Given the description of an element on the screen output the (x, y) to click on. 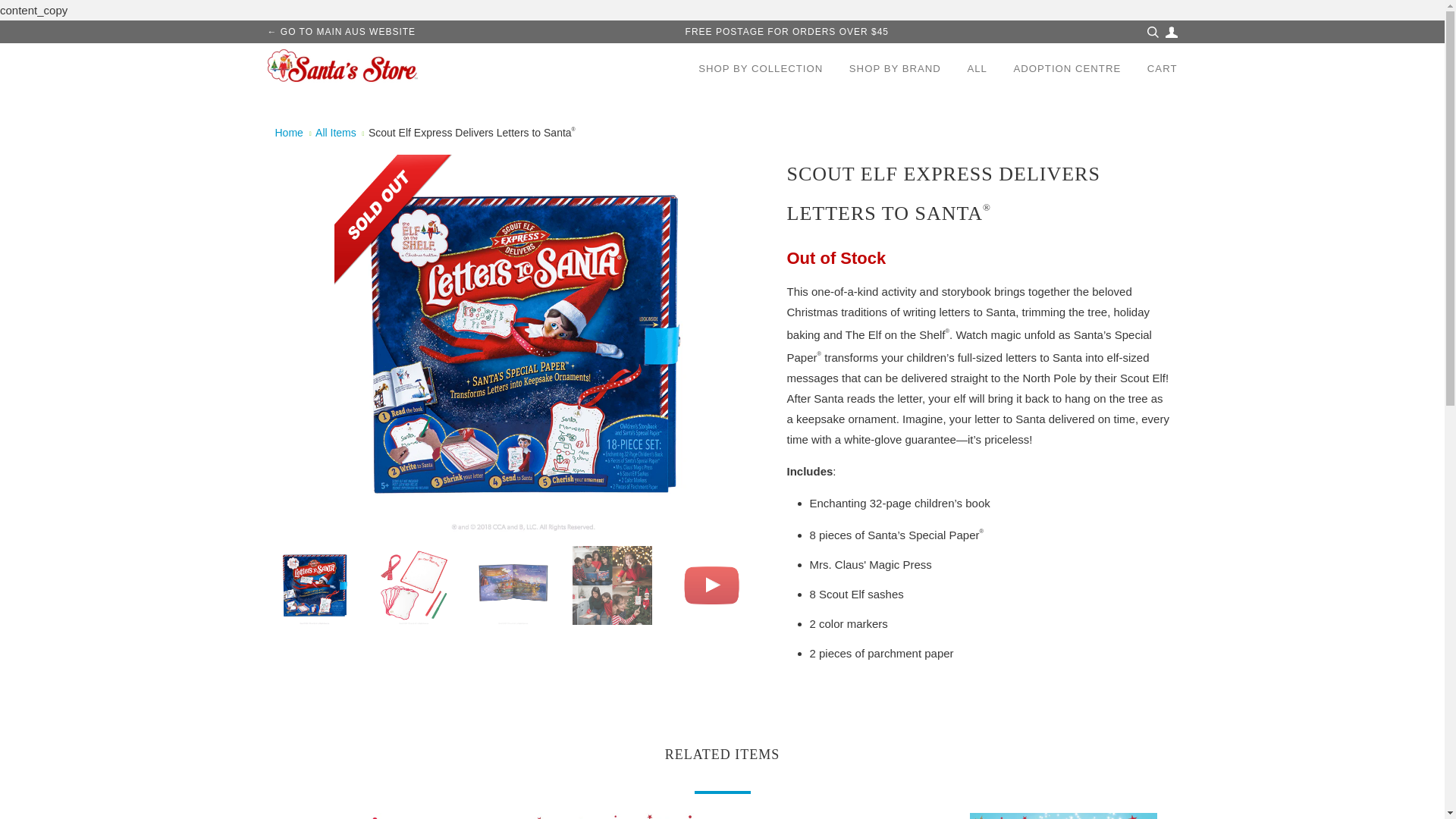
SHOP BY BRAND (894, 68)
SHOP BY COLLECTION (760, 68)
All Items (335, 132)
